Given the description of an element on the screen output the (x, y) to click on. 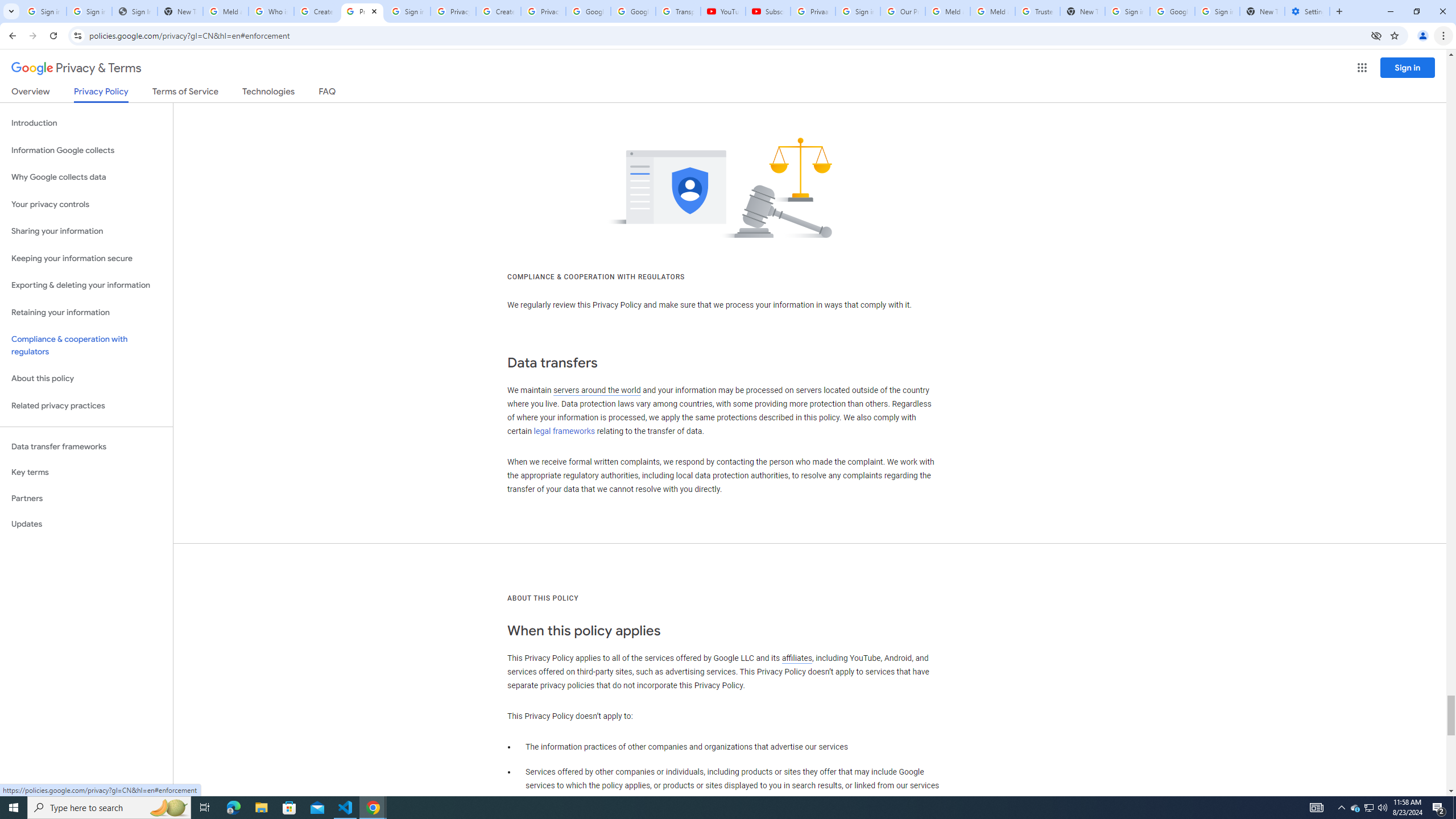
Partners (86, 497)
Create your Google Account (497, 11)
Google Account (633, 11)
Settings - Addresses and more (1307, 11)
New Tab (1262, 11)
